Given the description of an element on the screen output the (x, y) to click on. 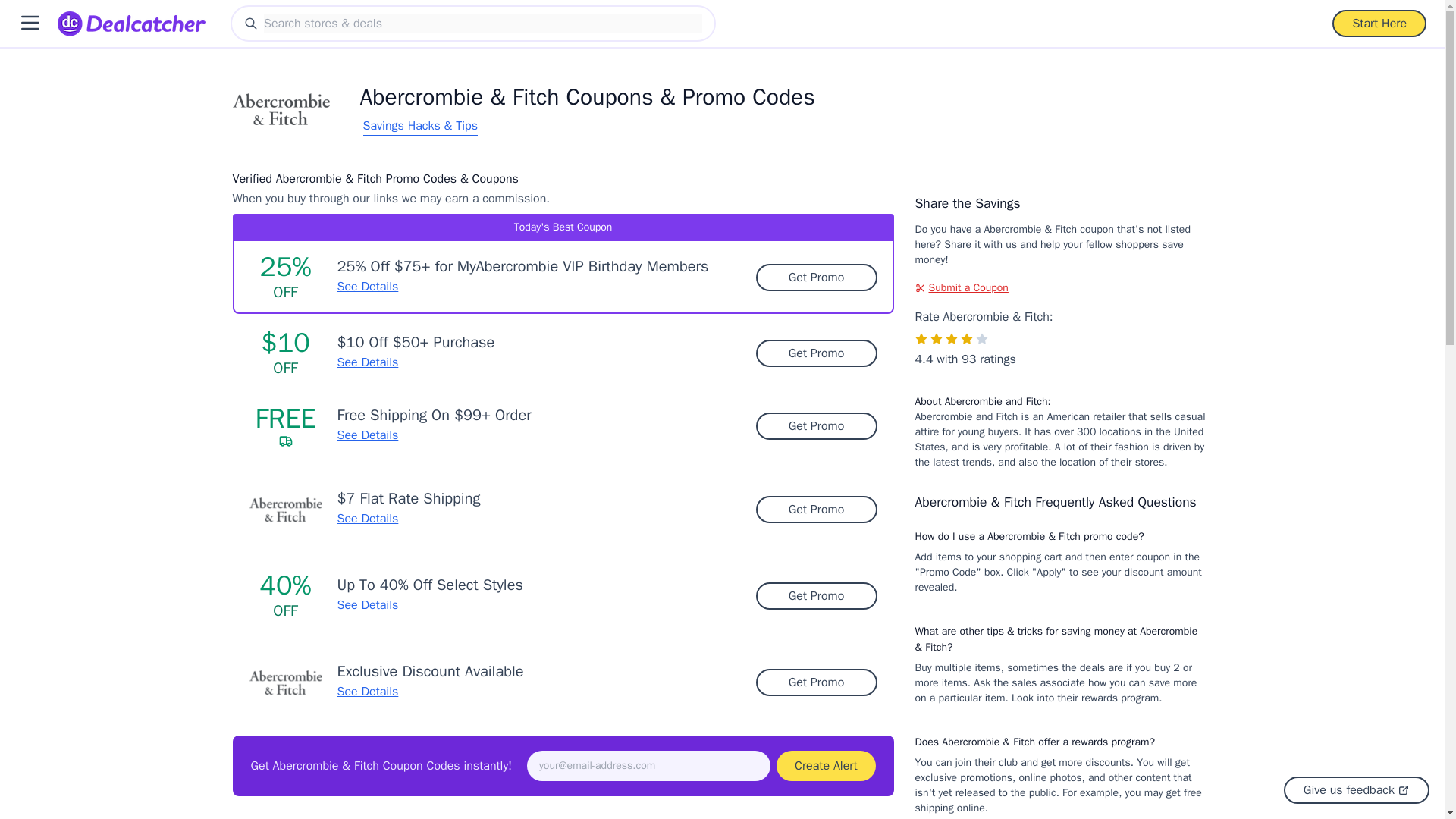
Create Alert (825, 766)
Main Navigation Toggler (29, 23)
Start Here (1379, 22)
